Given the description of an element on the screen output the (x, y) to click on. 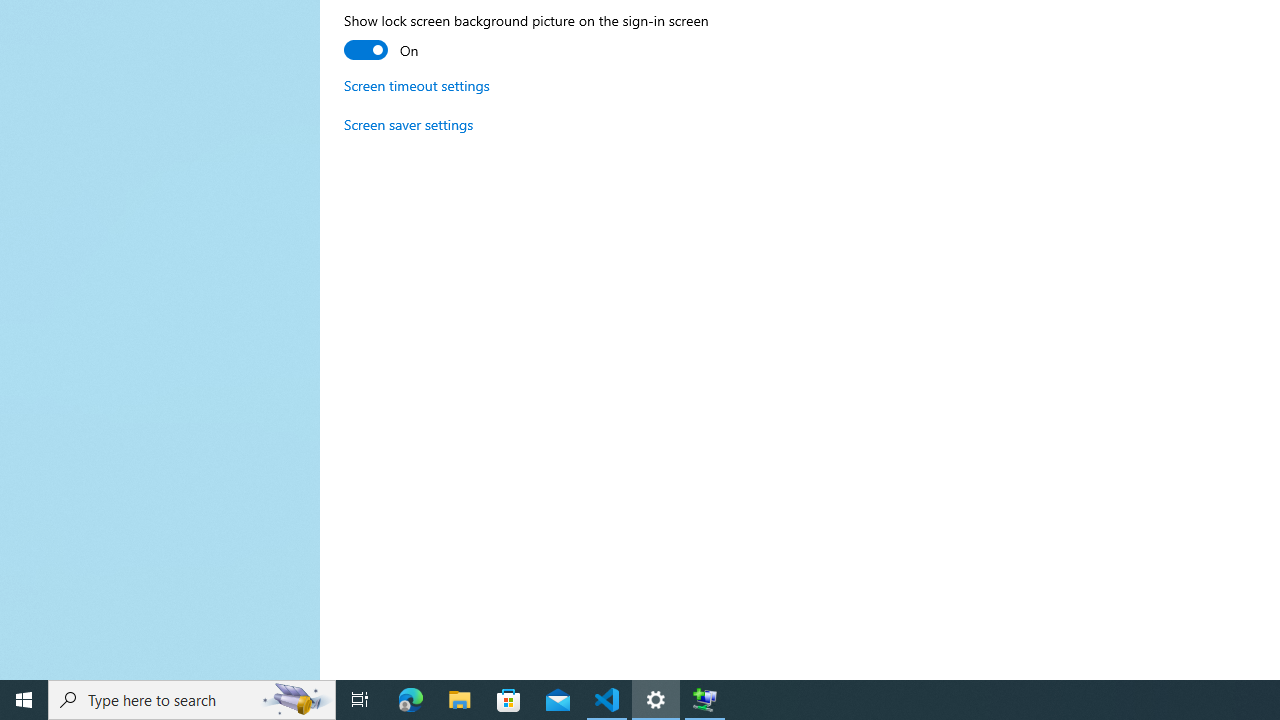
Show lock screen background picture on the sign-in screen (526, 38)
Screen timeout settings (417, 85)
Extensible Wizards Host Process - 1 running window (704, 699)
Screen saver settings (408, 124)
